Given the description of an element on the screen output the (x, y) to click on. 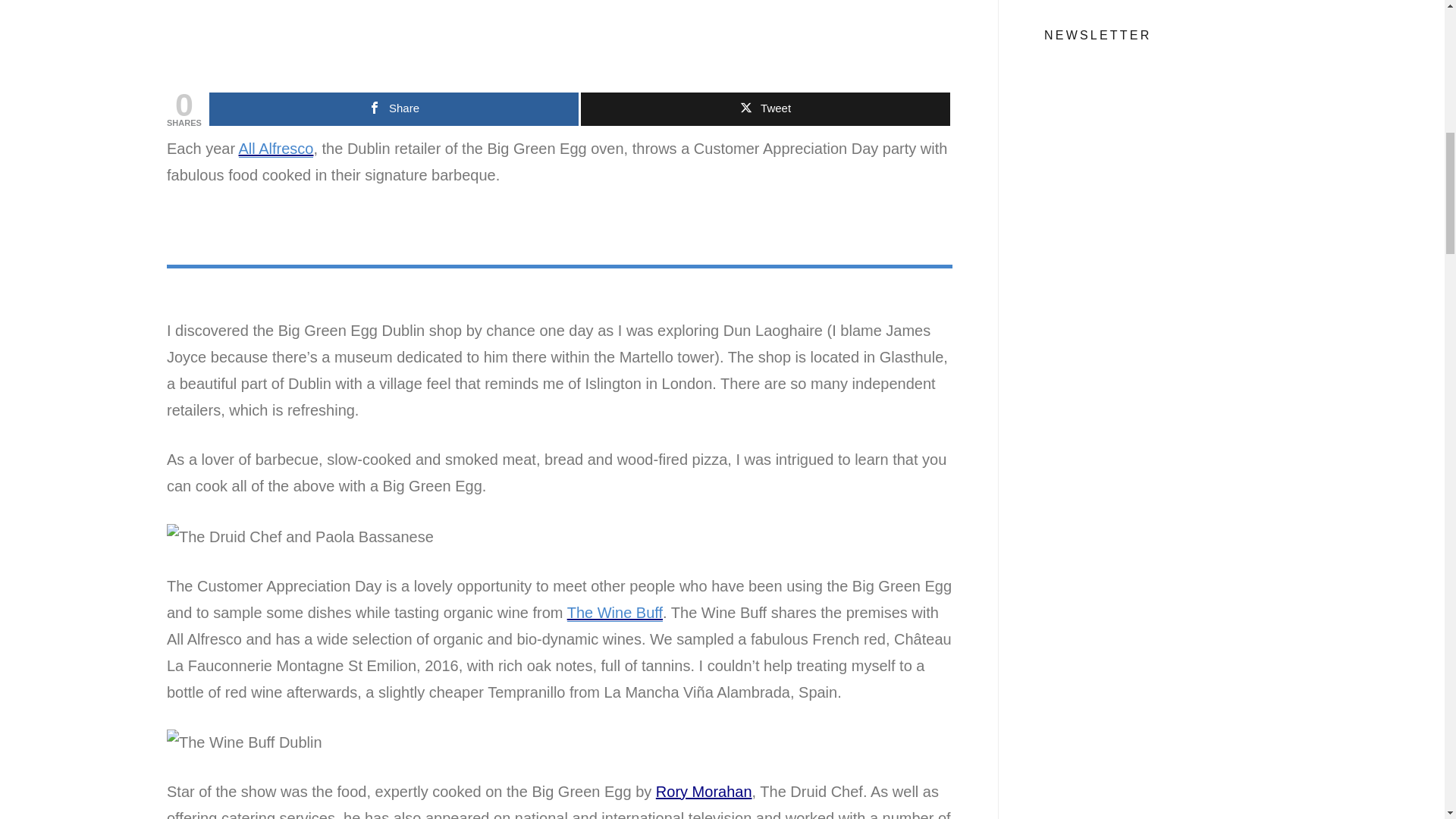
Share (393, 109)
Tweet (765, 109)
The Wine Buff (614, 612)
All Alfresco (276, 148)
